Given the description of an element on the screen output the (x, y) to click on. 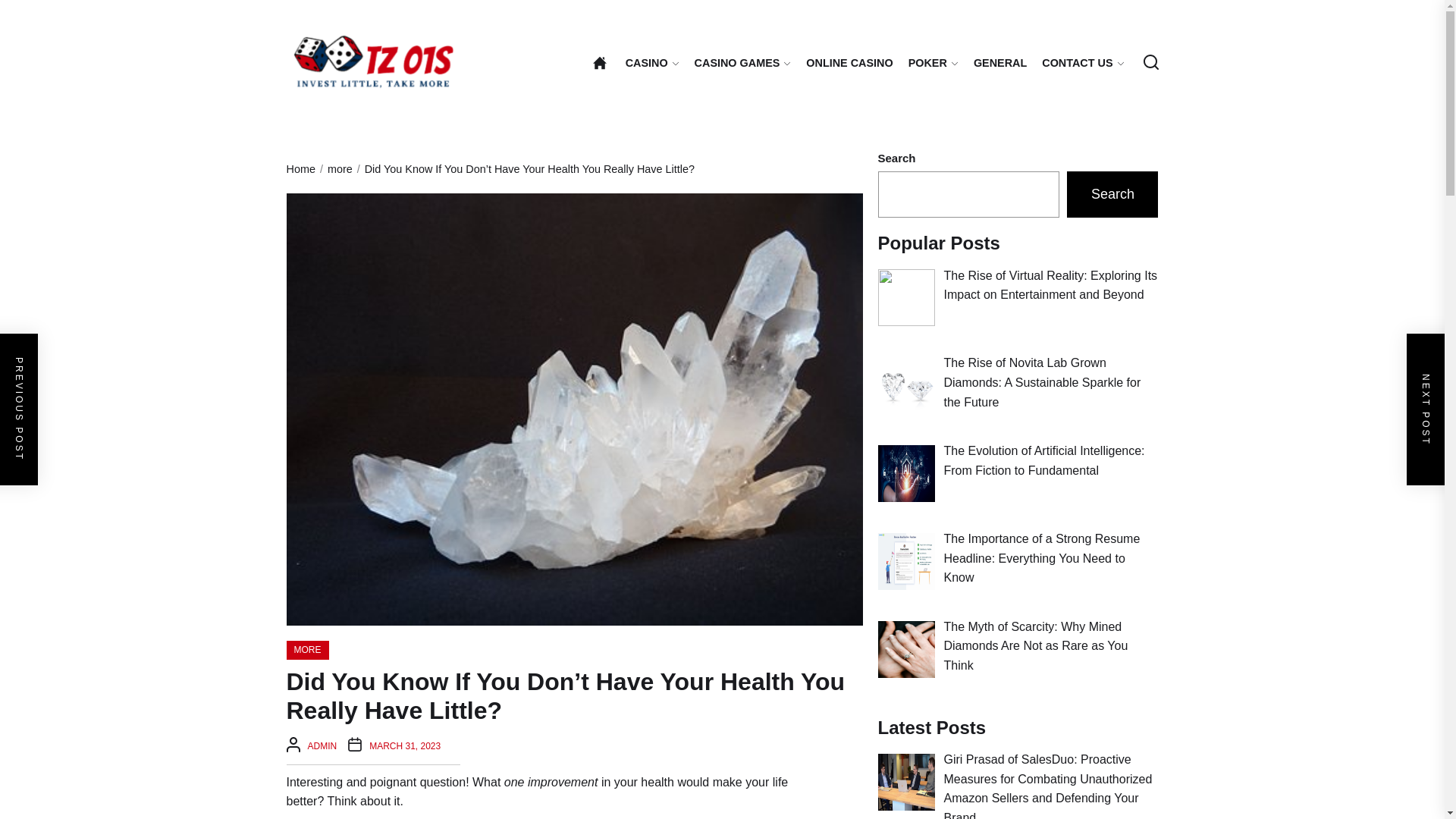
ONLINE CASINO (849, 62)
GENERAL (1000, 62)
POKER (933, 63)
CASINO (652, 63)
CASINO GAMES (743, 63)
CONTACT US (1083, 63)
Home (599, 62)
